Given the description of an element on the screen output the (x, y) to click on. 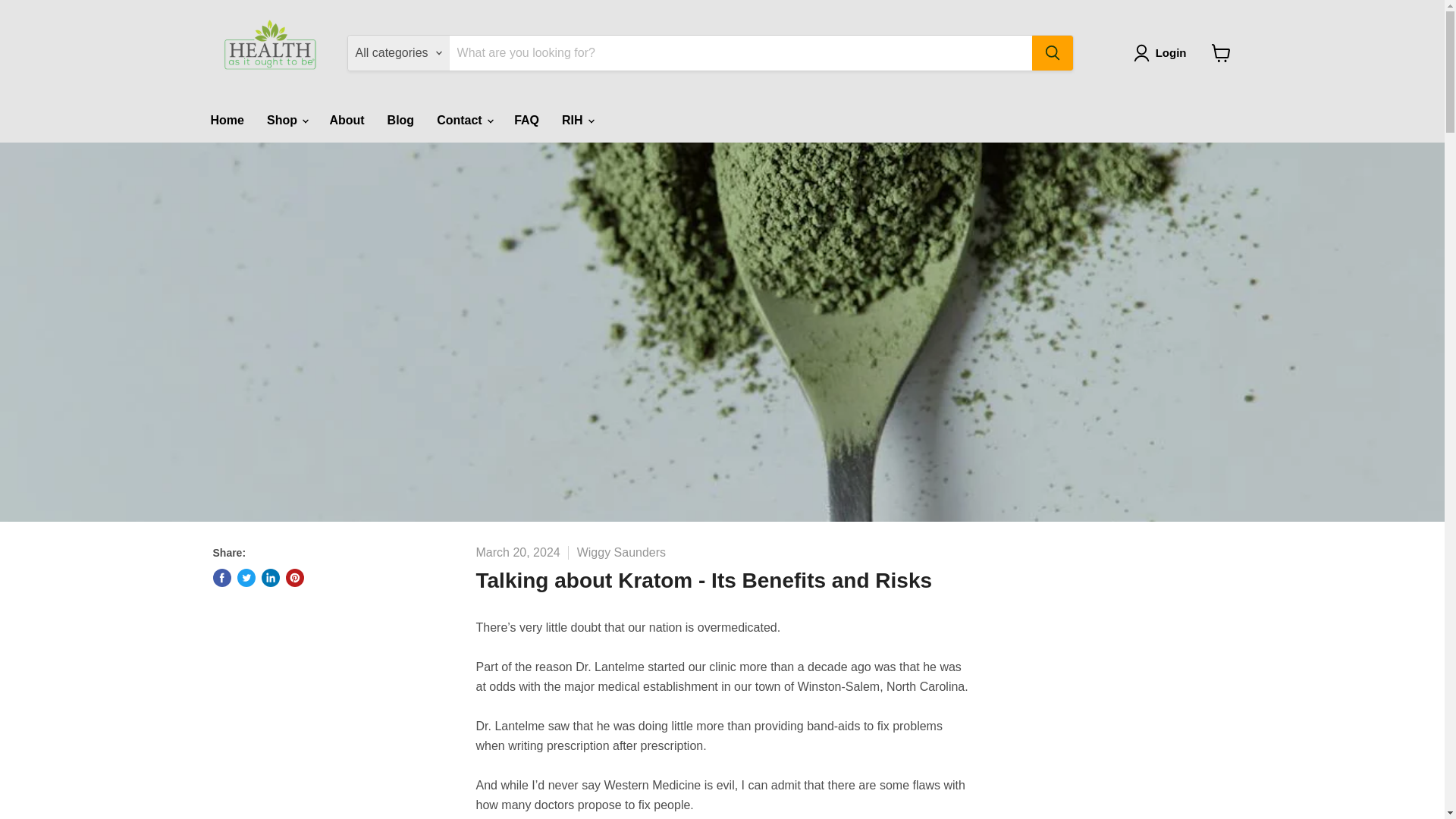
Blog (400, 120)
FAQ (526, 120)
Login (1171, 53)
Shop (286, 120)
Contact (463, 120)
Home (226, 120)
View cart (1221, 52)
About (346, 120)
